Given the description of an element on the screen output the (x, y) to click on. 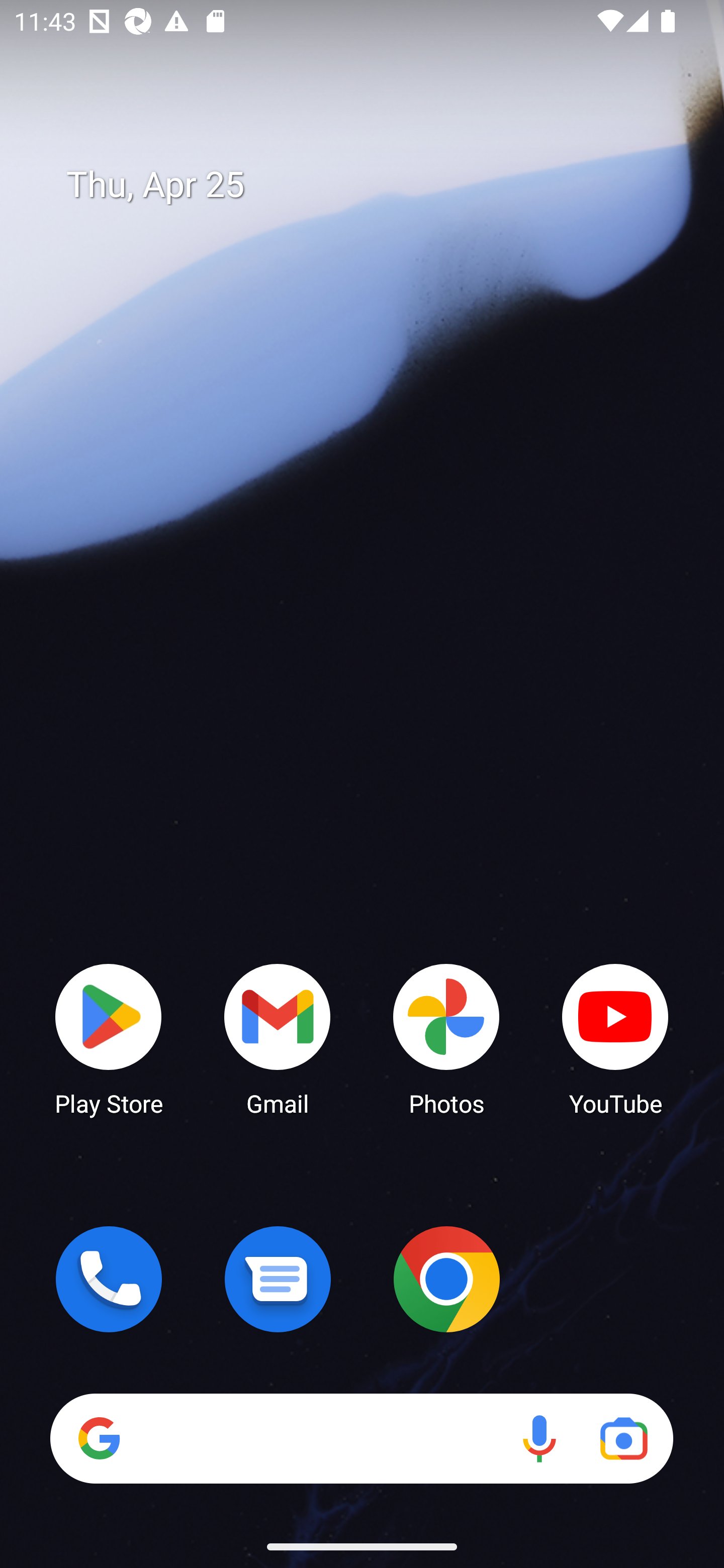
Thu, Apr 25 (375, 184)
Play Store (108, 1038)
Gmail (277, 1038)
Photos (445, 1038)
YouTube (615, 1038)
Phone (108, 1279)
Messages (277, 1279)
Chrome (446, 1279)
Search Voice search Google Lens (361, 1438)
Voice search (539, 1438)
Google Lens (623, 1438)
